Given the description of an element on the screen output the (x, y) to click on. 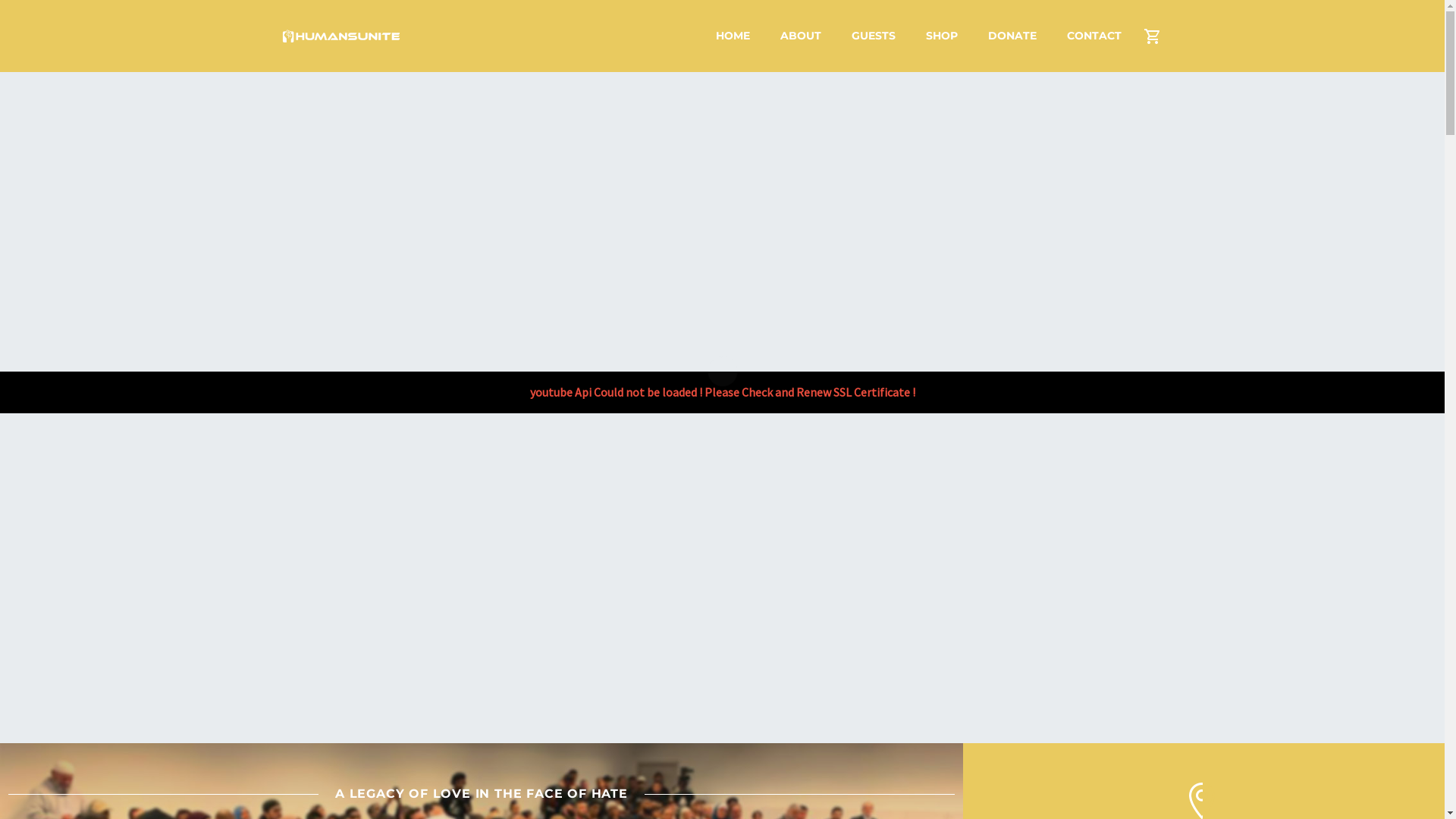
HOME Element type: text (732, 36)
GUESTS Element type: text (872, 36)
SHOP Element type: text (941, 36)
DONATE Element type: text (1011, 36)
ABOUT Element type: text (799, 36)
CONTACT Element type: text (1093, 36)
